Given the description of an element on the screen output the (x, y) to click on. 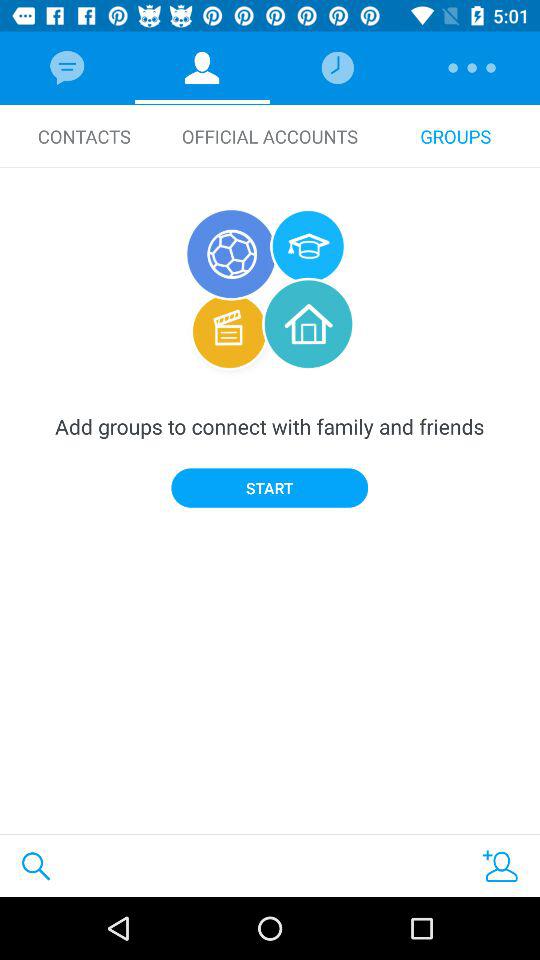
select the item above add groups to item (84, 136)
